Given the description of an element on the screen output the (x, y) to click on. 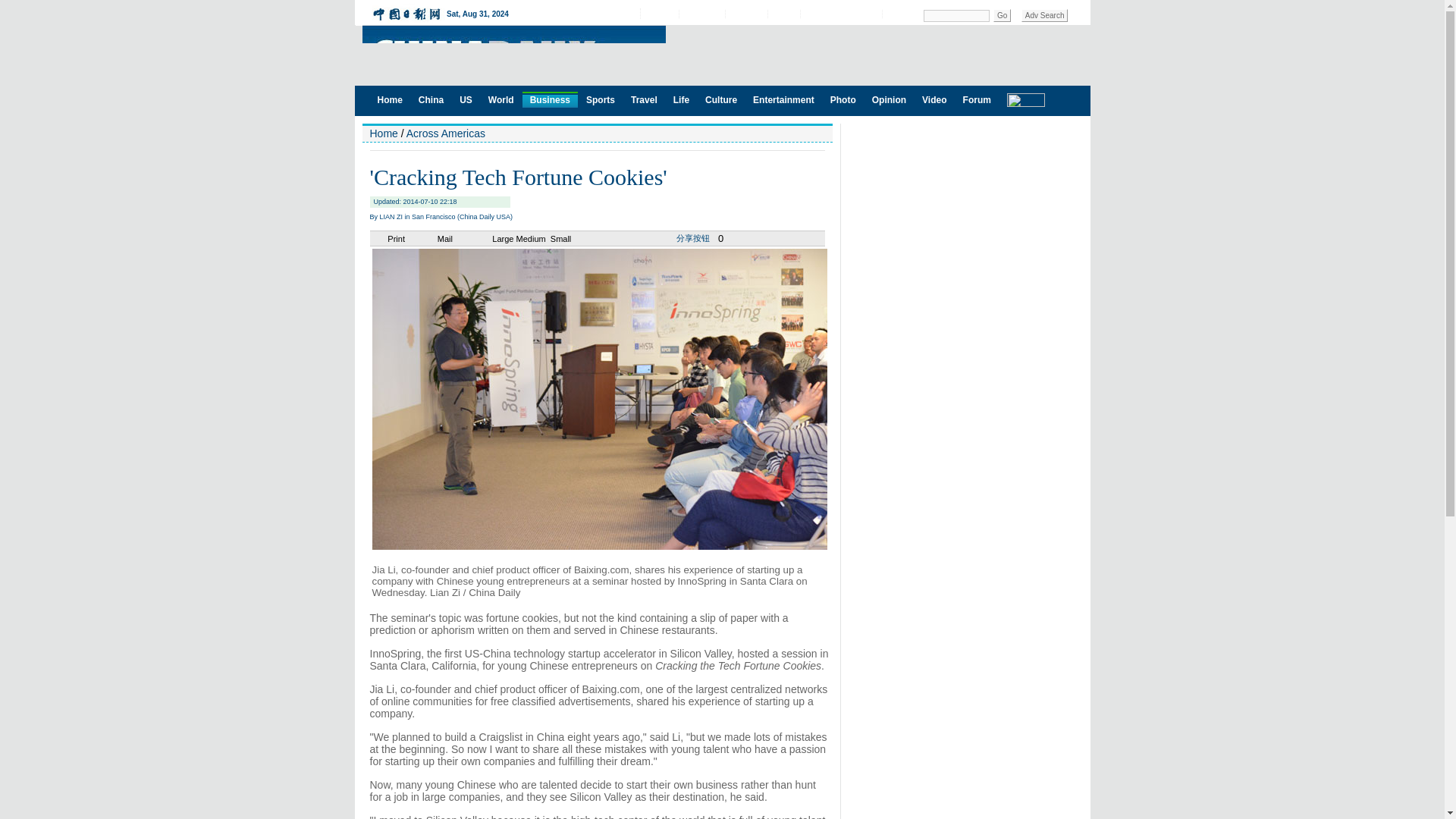
China (430, 99)
Business (550, 99)
Sports (600, 99)
Travel (644, 99)
Home (389, 99)
US (465, 99)
World (500, 99)
